Given the description of an element on the screen output the (x, y) to click on. 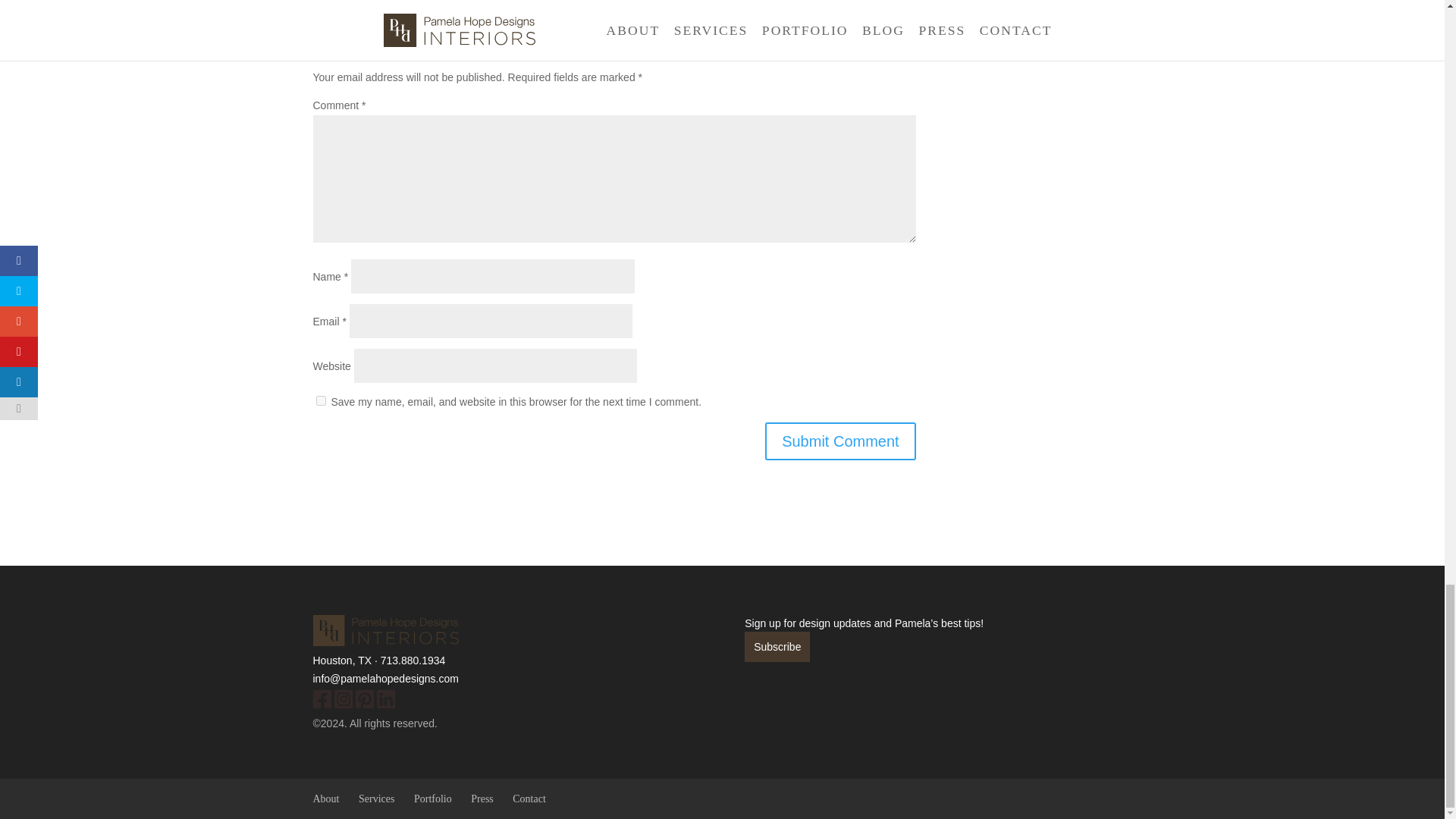
713.880.1934 (412, 660)
Submit Comment (840, 441)
yes (319, 400)
Subscribe (776, 646)
Submit Comment (840, 441)
